Given the description of an element on the screen output the (x, y) to click on. 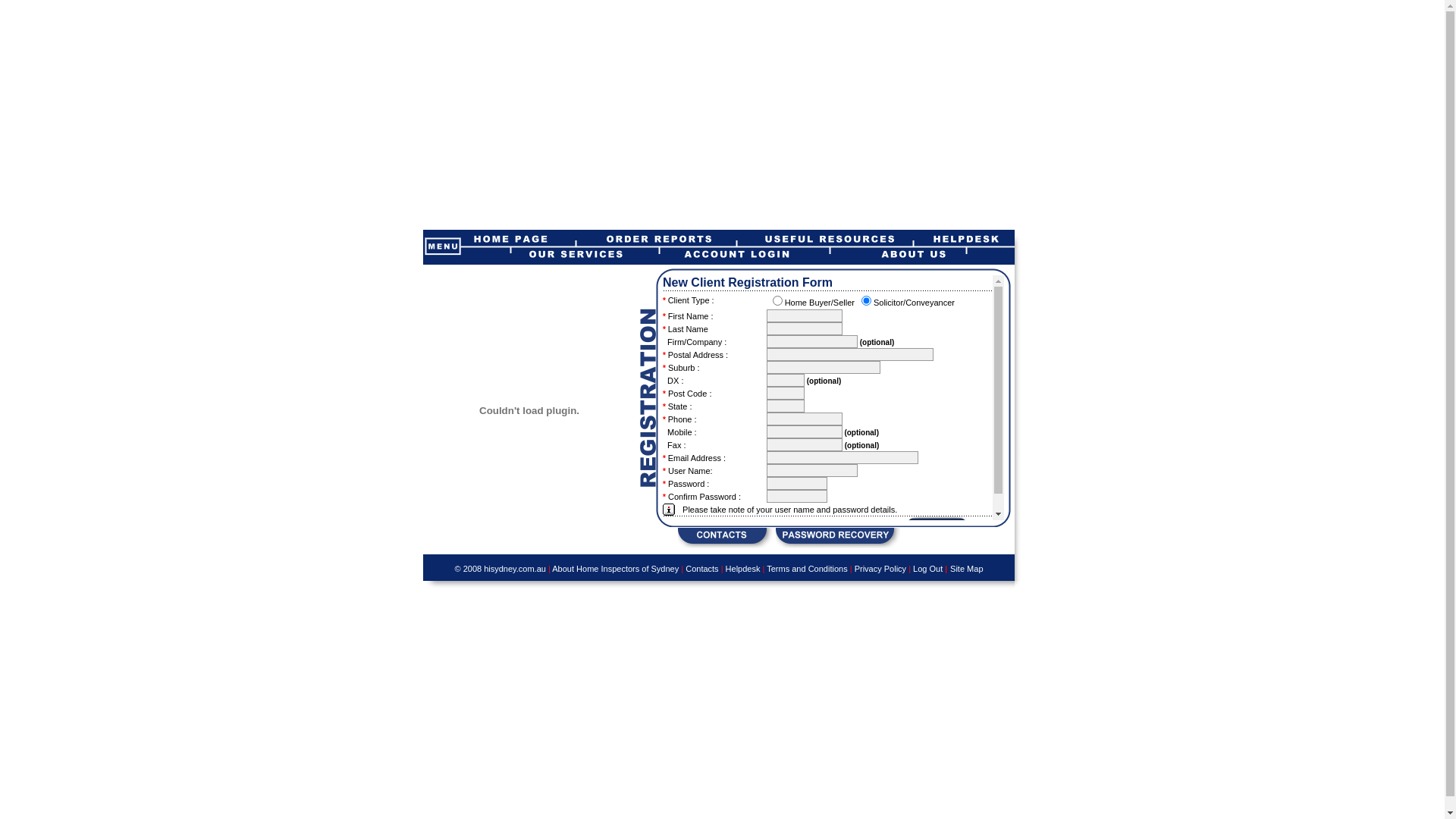
Log Out Element type: text (928, 568)
Privacy Policy Element type: text (880, 568)
Terms and Conditions Element type: text (805, 568)
Helpdesk Element type: text (742, 568)
Site Map Element type: text (966, 568)
Contacts Element type: text (701, 568)
About Home Inspectors of Sydney Element type: text (615, 568)
